Given the description of an element on the screen output the (x, y) to click on. 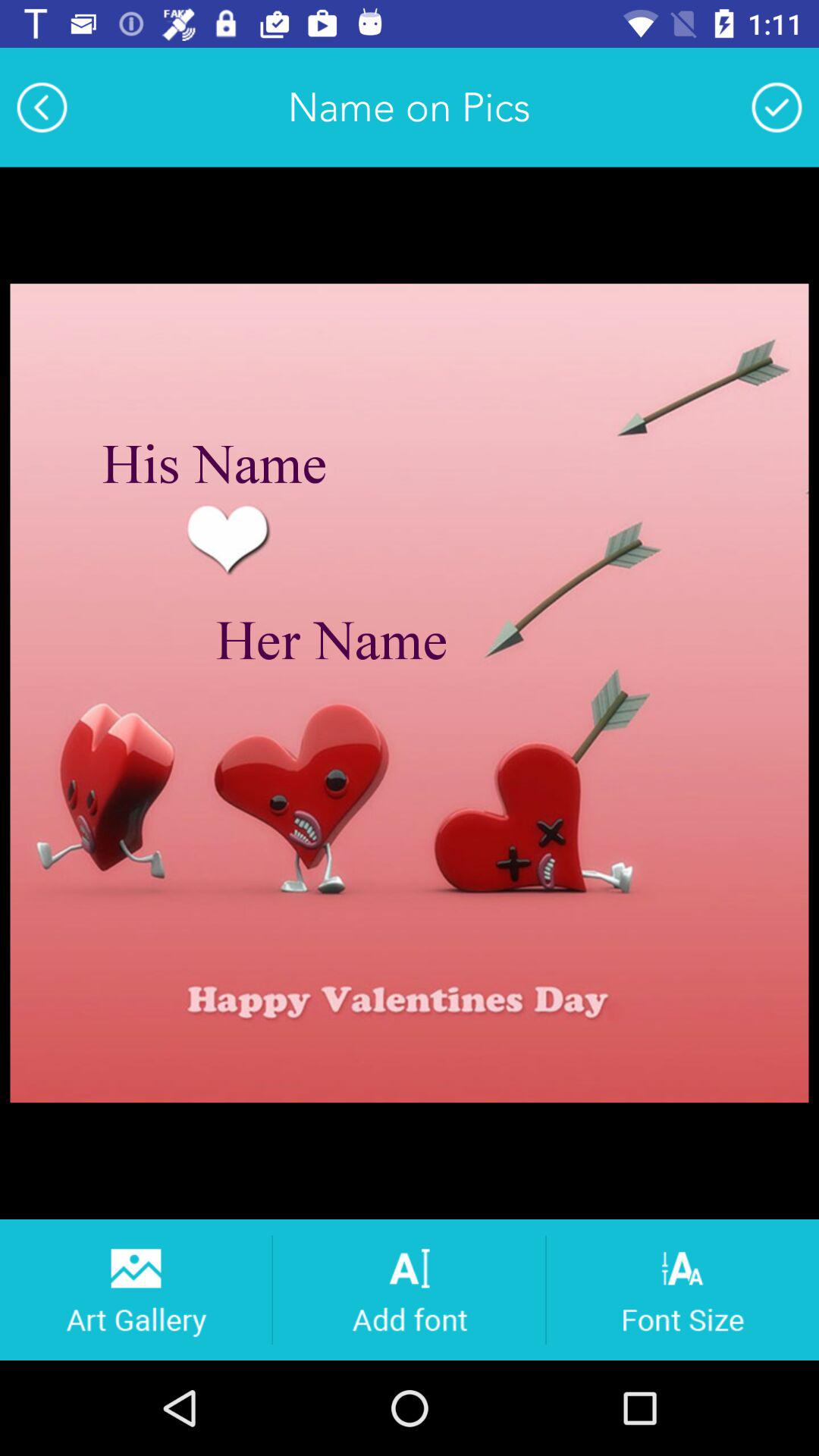
go to art gallery (135, 1289)
